Given the description of an element on the screen output the (x, y) to click on. 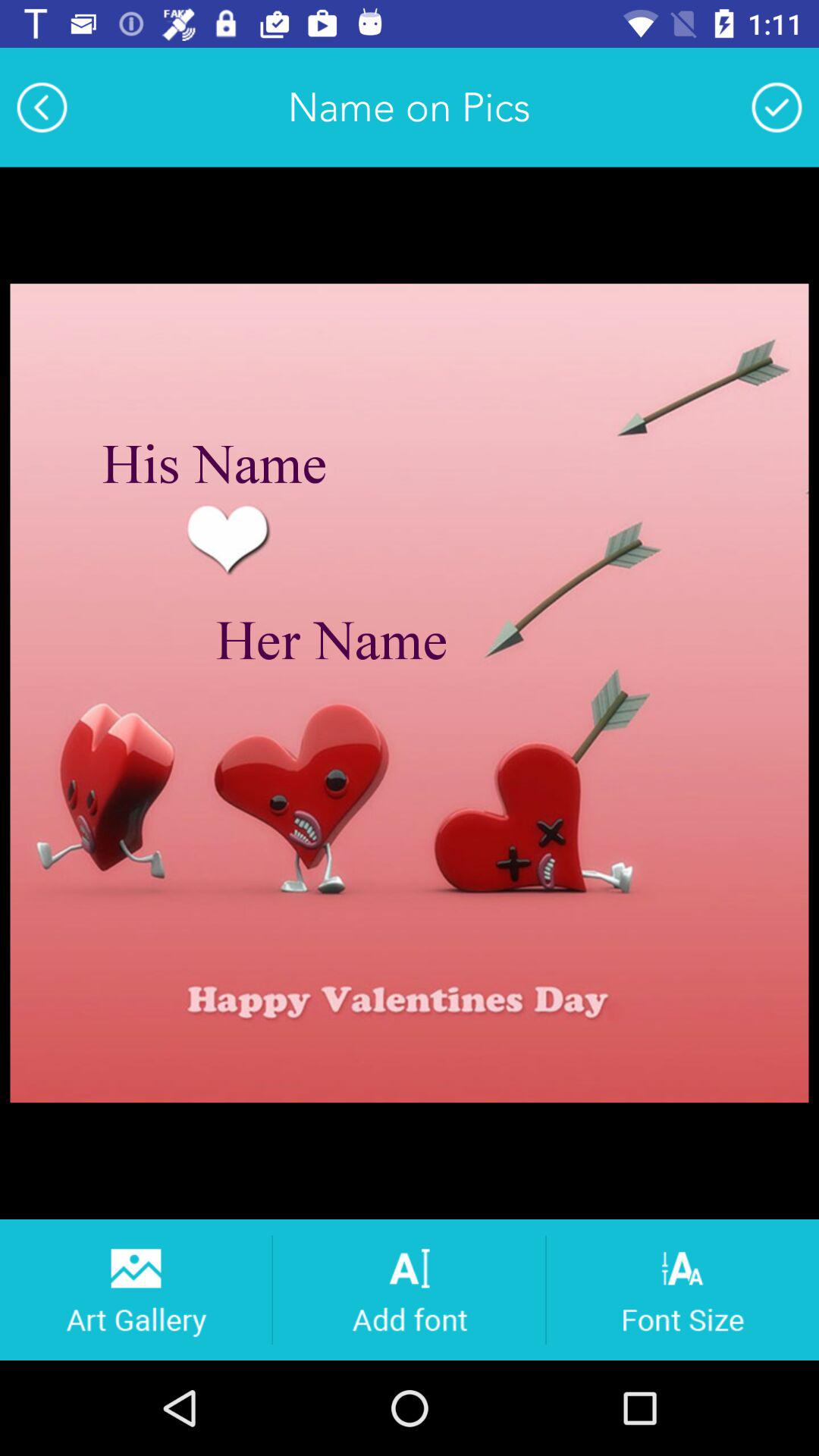
go to art gallery (135, 1289)
